Given the description of an element on the screen output the (x, y) to click on. 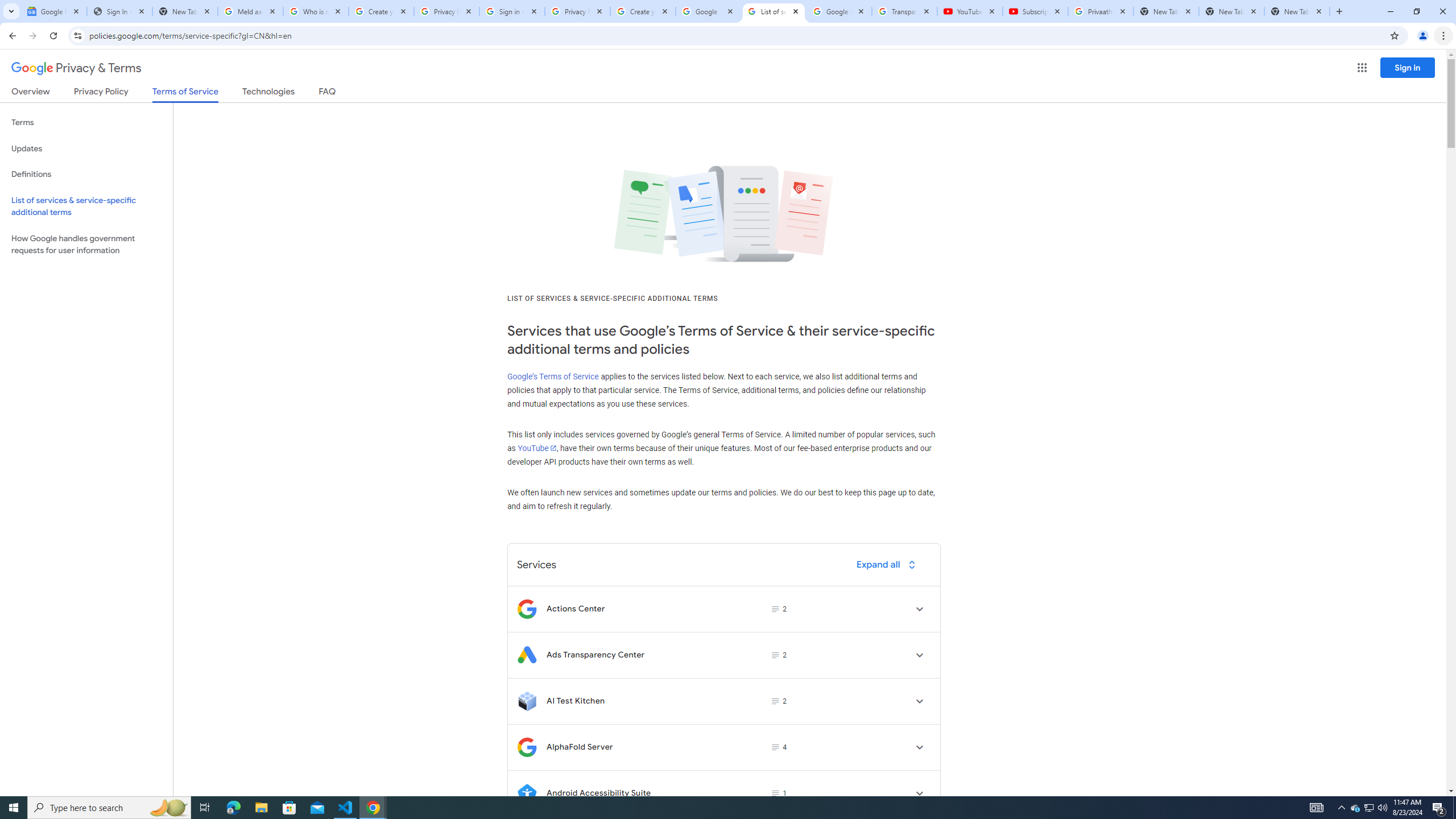
Who is my administrator? - Google Account Help (315, 11)
Privacy & Terms (76, 68)
Subscriptions - YouTube (1035, 11)
Updates (86, 148)
Technologies (268, 93)
Logo for Ads Transparency Center (526, 654)
